Given the description of an element on the screen output the (x, y) to click on. 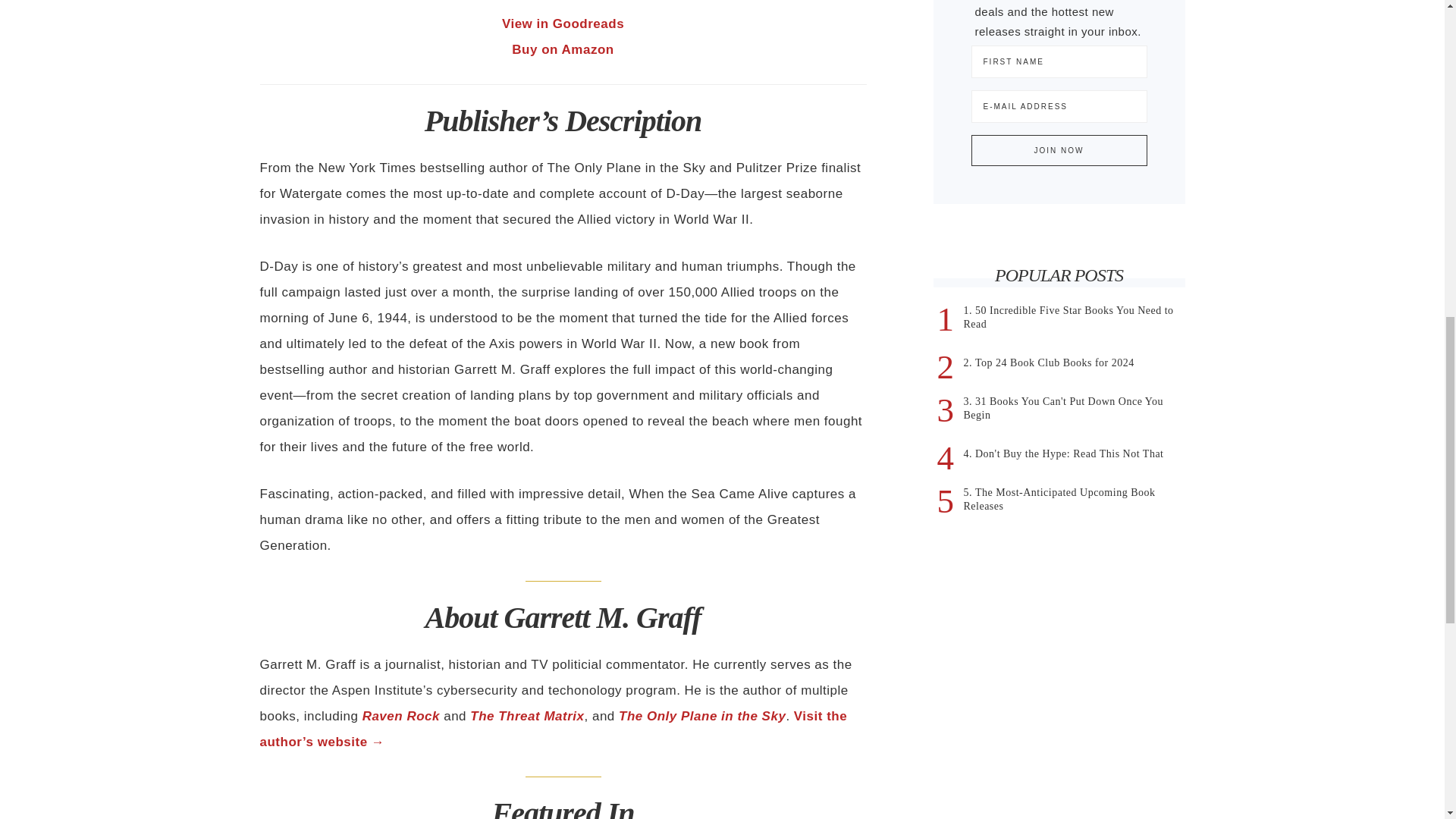
Buy on Amazon (562, 49)
Raven Rock (400, 716)
Join Now (1059, 150)
Join Now (1059, 150)
50 Incredible Five Star Books You Need to Read (1067, 317)
Top 24 Book Club Books for 2024 (1054, 362)
View in Goodreads (563, 23)
The Only Plane in the Sky (702, 716)
The Threat Matrix (526, 716)
